Given the description of an element on the screen output the (x, y) to click on. 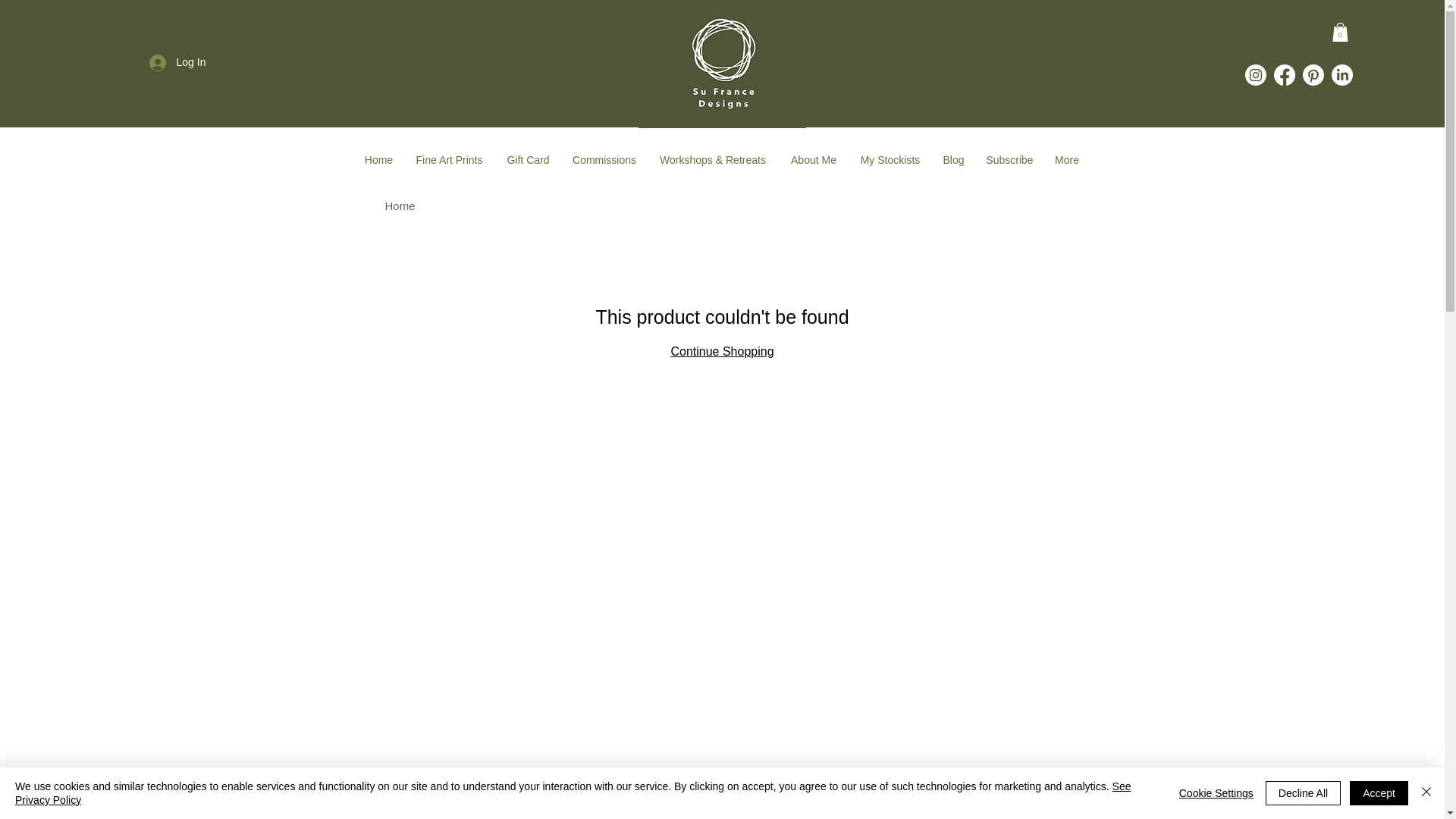
Home (399, 205)
Log In (176, 62)
Continue Shopping (721, 350)
Gift Card (527, 160)
Blog (953, 160)
Home (378, 160)
About Me (812, 160)
Commissions (603, 160)
Subscribe (1009, 160)
Fine Art Prints (449, 160)
